Given the description of an element on the screen output the (x, y) to click on. 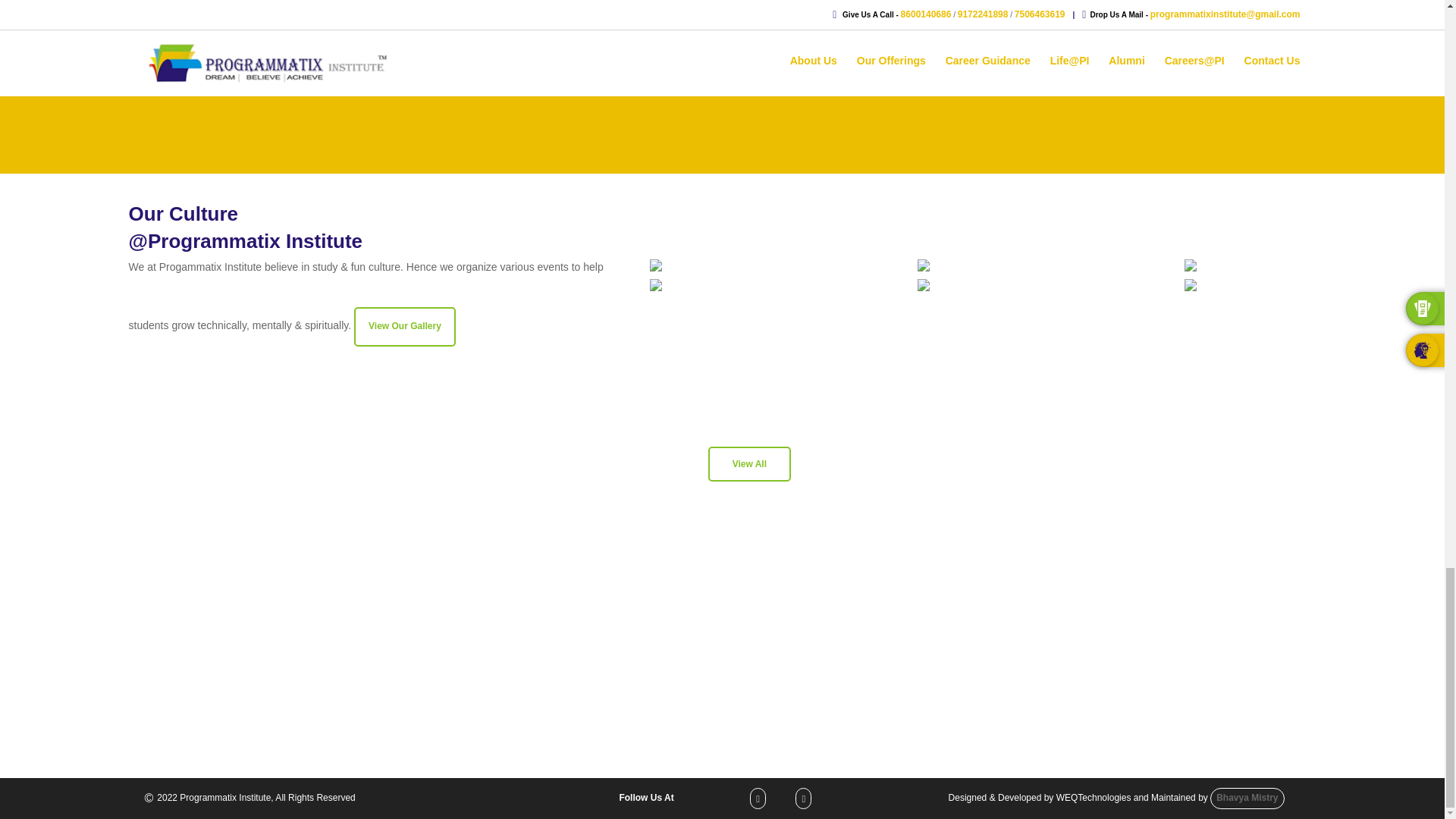
Our Story (248, 634)
Our Team (248, 656)
Our Enique Features (248, 678)
About Us (169, 612)
Testimonials (248, 700)
